Given the description of an element on the screen output the (x, y) to click on. 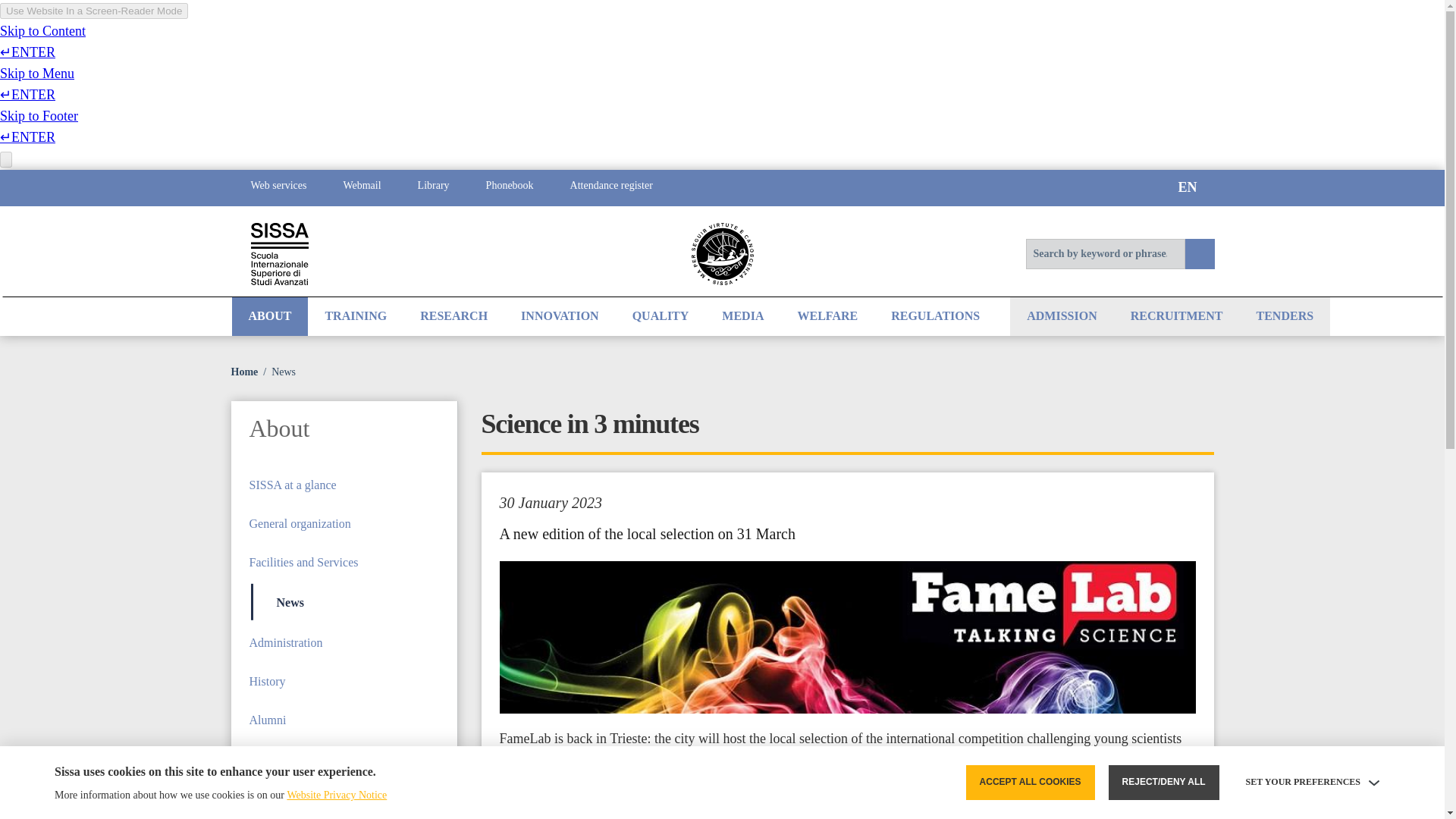
Enter the terms you wish to search for. (1105, 254)
Go to: How to reach us (343, 758)
Go to: History (343, 681)
Go to: SISSA at a glance (343, 485)
Go to: About (343, 433)
Go to: Library (432, 187)
Library (432, 187)
Web services (277, 187)
Go to: Web services (277, 187)
Webmail (361, 187)
